Given the description of an element on the screen output the (x, y) to click on. 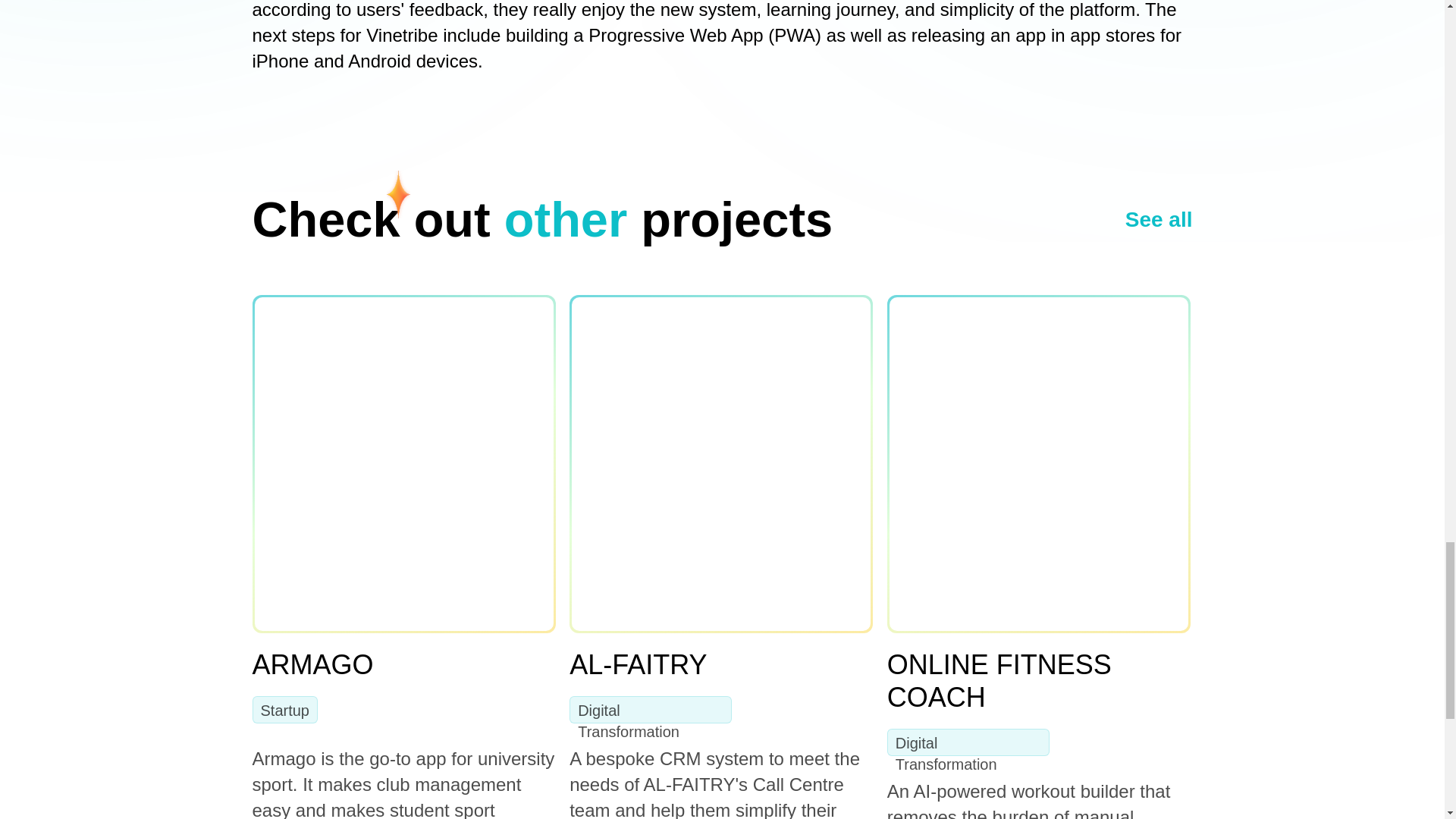
See all (1158, 219)
